Given the description of an element on the screen output the (x, y) to click on. 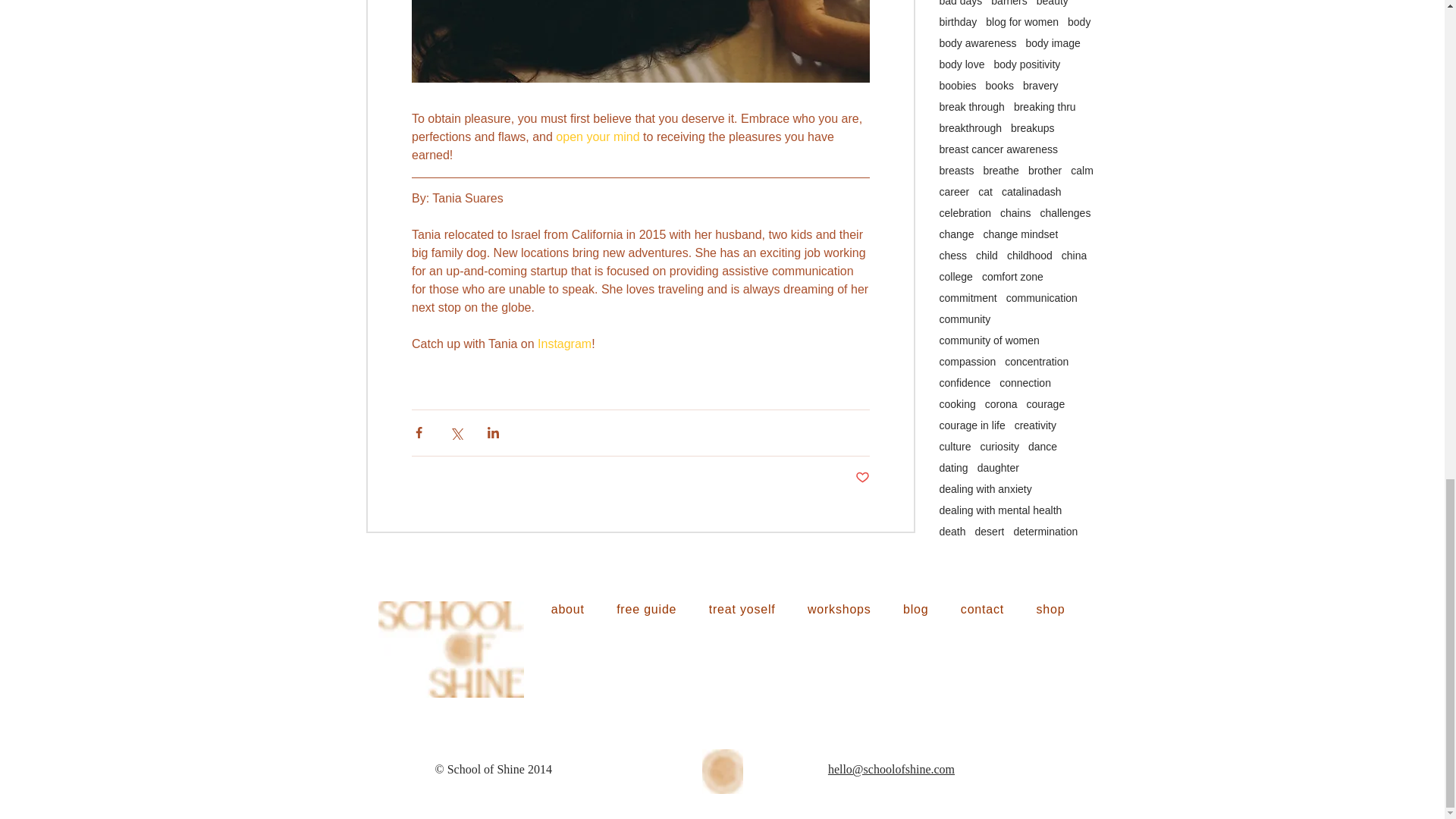
Instagram (564, 343)
open your mind (597, 136)
Post not marked as liked (862, 478)
